Given the description of an element on the screen output the (x, y) to click on. 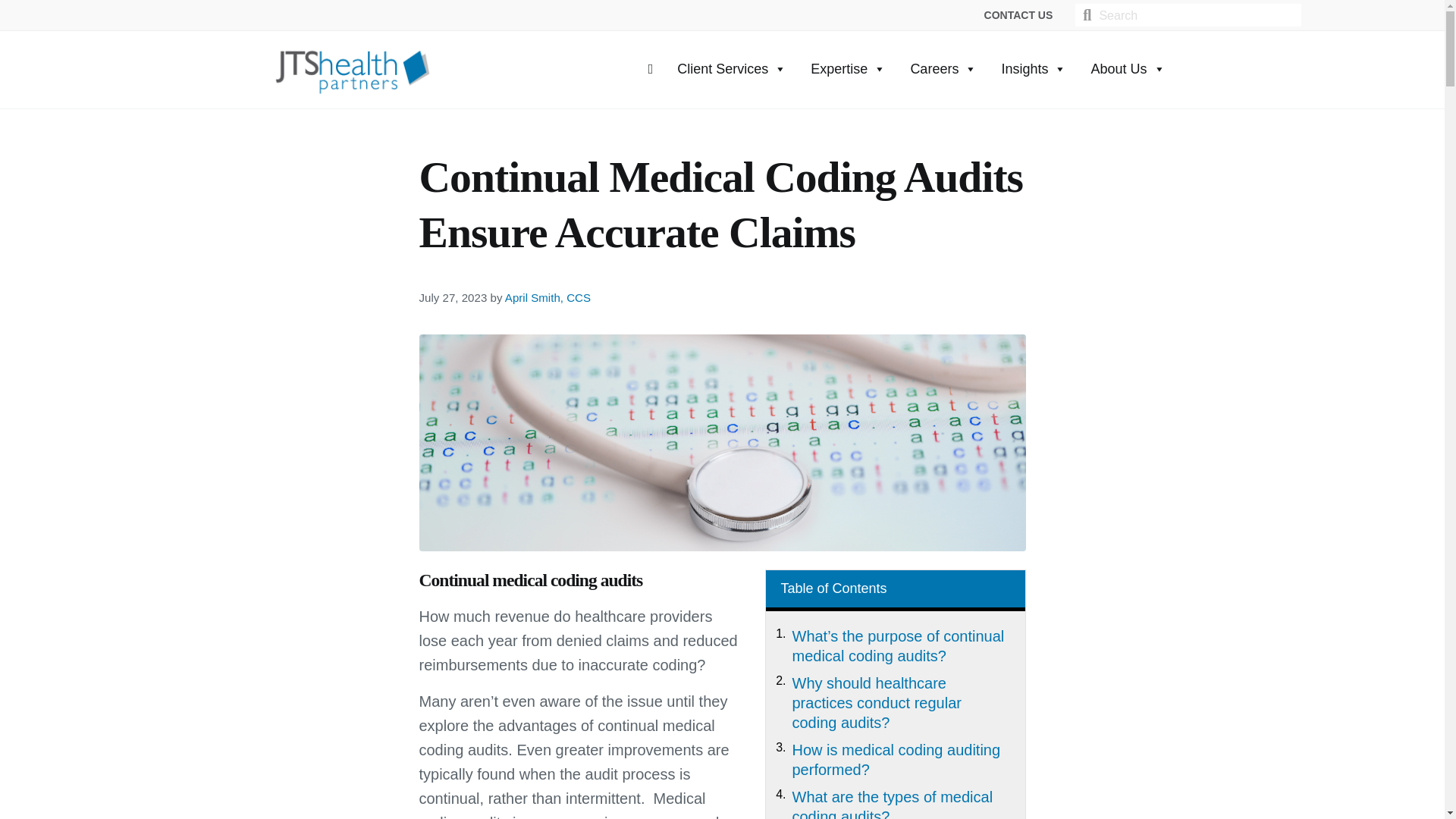
Search (1195, 15)
Client Services (731, 69)
Expertise (847, 69)
CONTACT US (1018, 14)
